Given the description of an element on the screen output the (x, y) to click on. 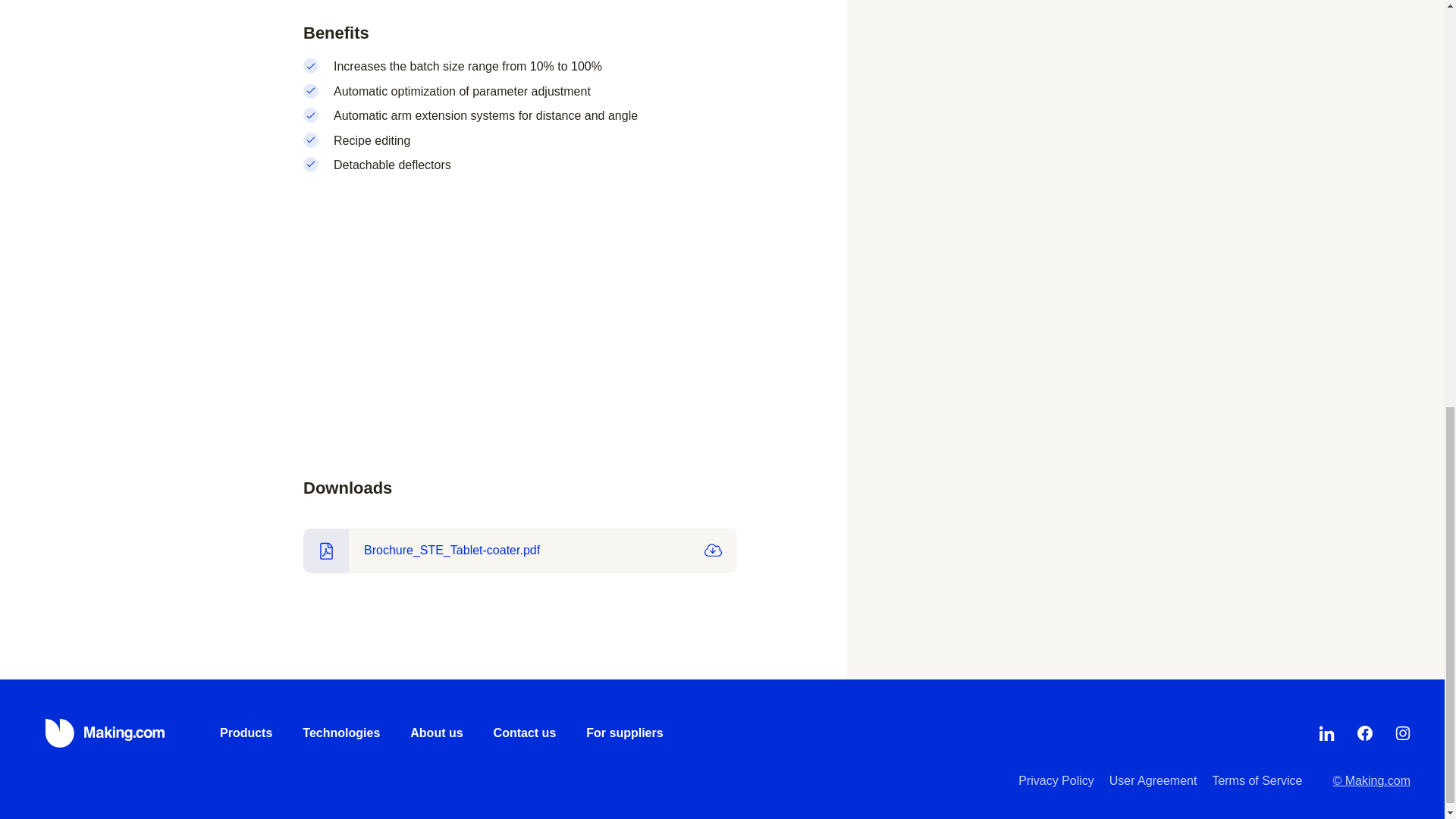
Products (245, 733)
About us (436, 733)
Home (106, 733)
Contact us (524, 733)
Terms of Service (1256, 780)
For suppliers (624, 733)
Technologies (341, 733)
User Agreement (1153, 780)
Privacy Policy (1056, 780)
